Given the description of an element on the screen output the (x, y) to click on. 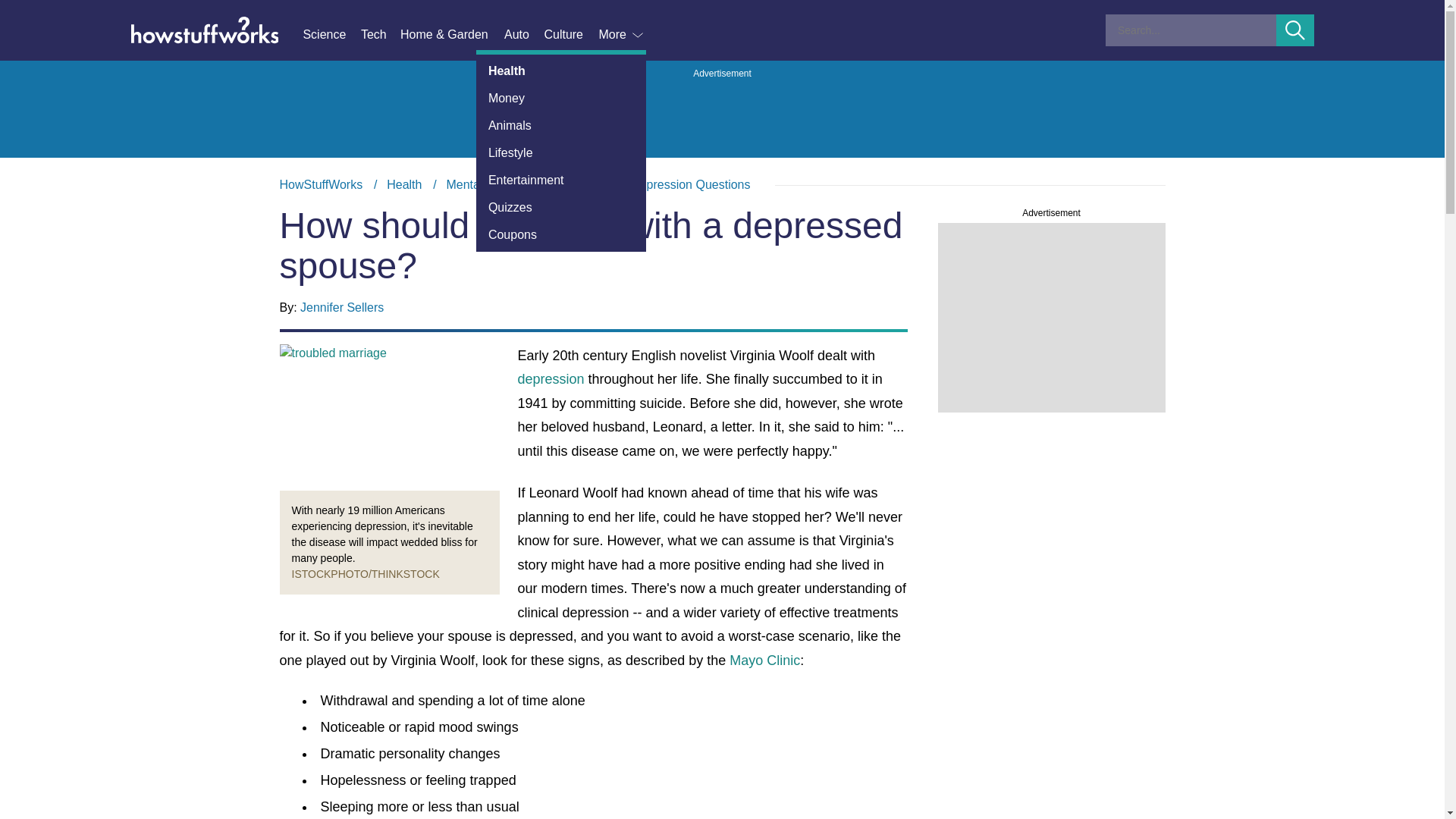
Science (330, 34)
HowStuffWorks (320, 184)
Entertainment (561, 180)
Auto (523, 34)
Depression (575, 184)
Culture (570, 34)
Animals (561, 125)
Health (404, 184)
Mental Health (483, 184)
Submit Search (1295, 29)
More (621, 34)
Tech (380, 34)
Money (561, 98)
Quizzes (561, 207)
